Given the description of an element on the screen output the (x, y) to click on. 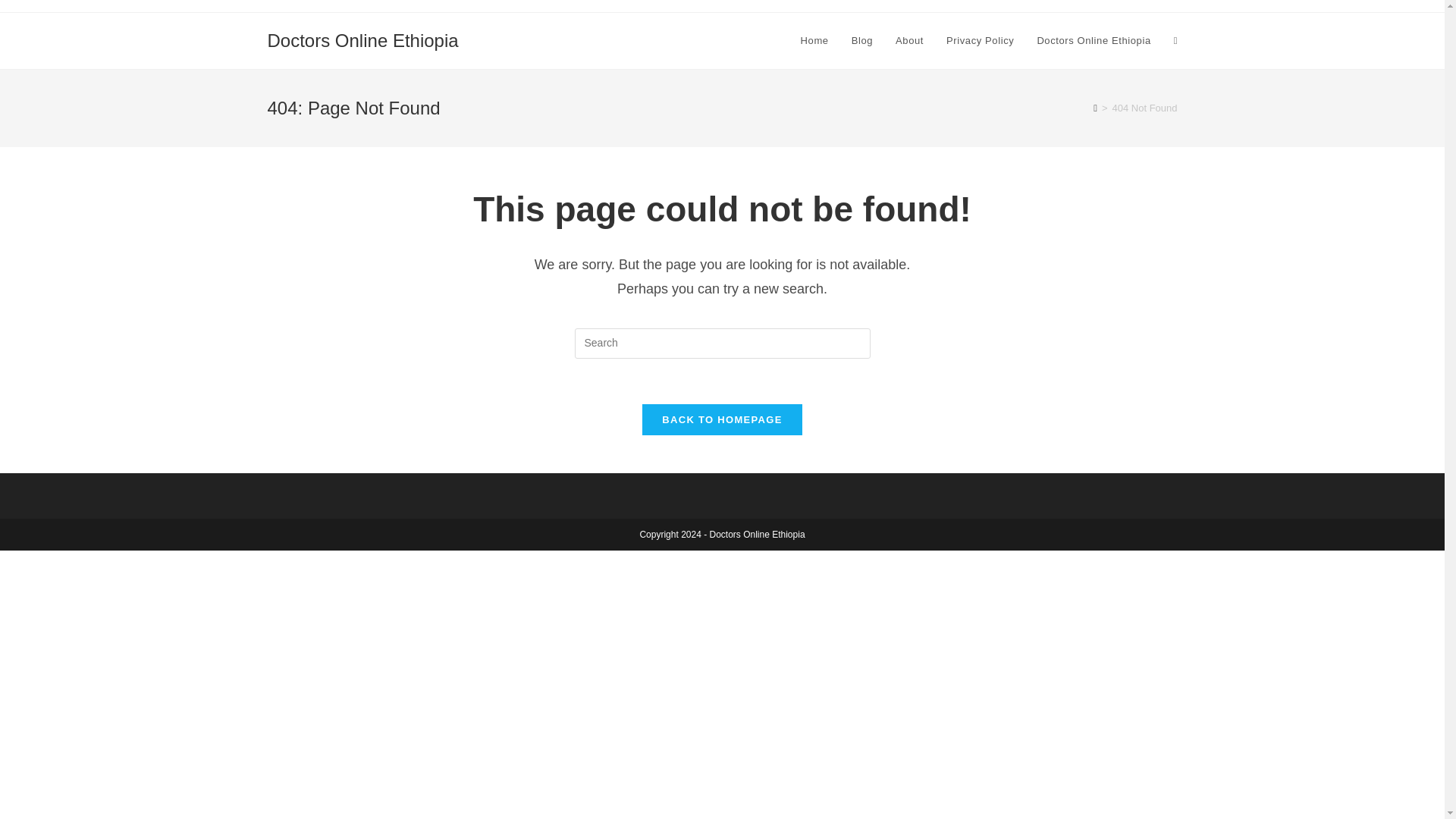
About (908, 40)
Doctors Online Ethiopia (1093, 40)
Home (814, 40)
BACK TO HOMEPAGE (722, 419)
Doctors Online Ethiopia (362, 40)
Privacy Policy (979, 40)
Toggle website search (1175, 40)
Blog (861, 40)
